Given the description of an element on the screen output the (x, y) to click on. 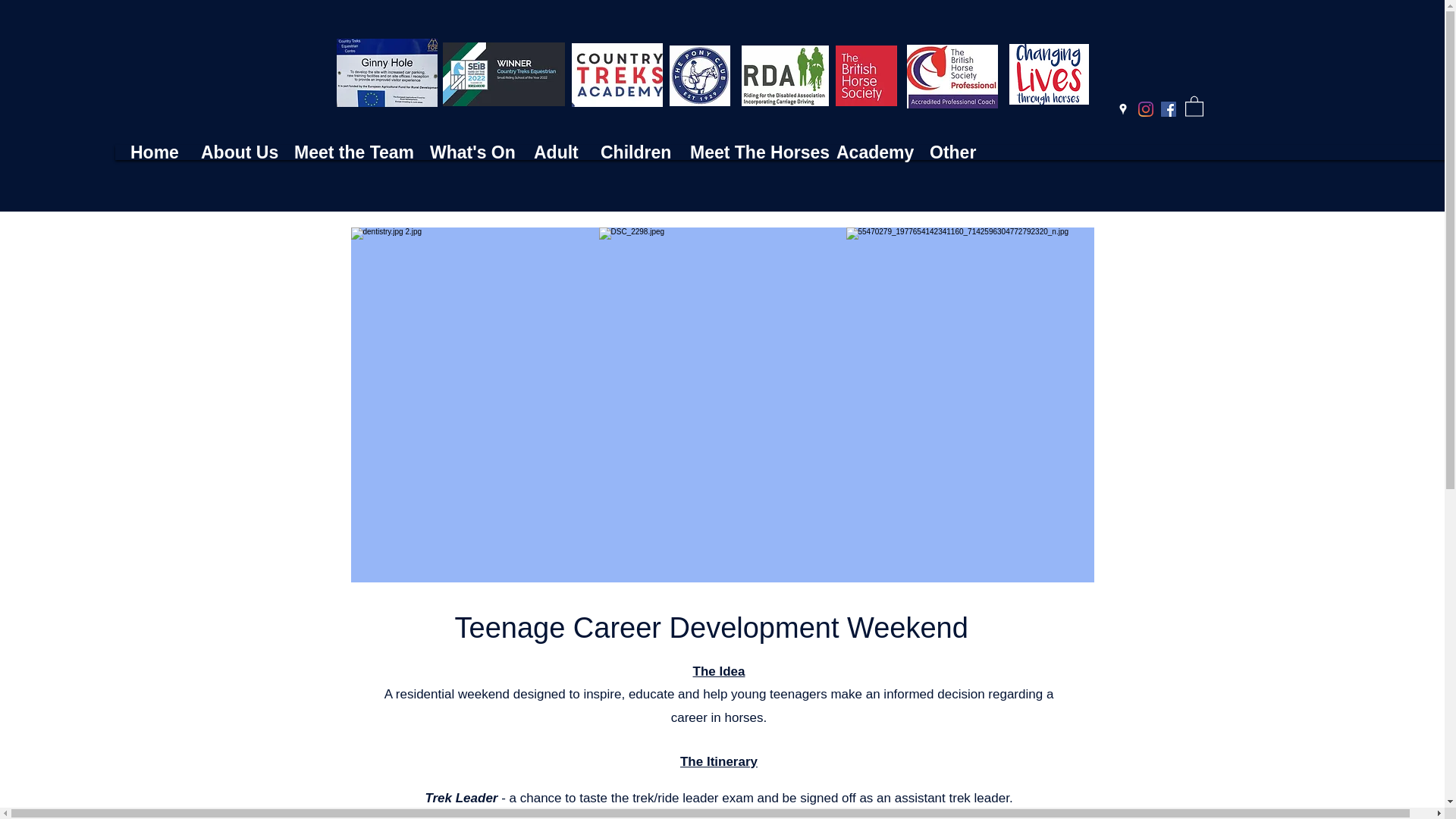
About Us (232, 151)
Accredited Coach.jpg (617, 75)
Meet The Horses (747, 151)
What's On (467, 151)
Accredited Coach.jpg (952, 76)
Academy (868, 151)
Meet the Team (346, 151)
Adult (551, 151)
Children (630, 151)
Home (150, 151)
EAF Rural Development.jpg (387, 72)
Other (951, 151)
